Given the description of an element on the screen output the (x, y) to click on. 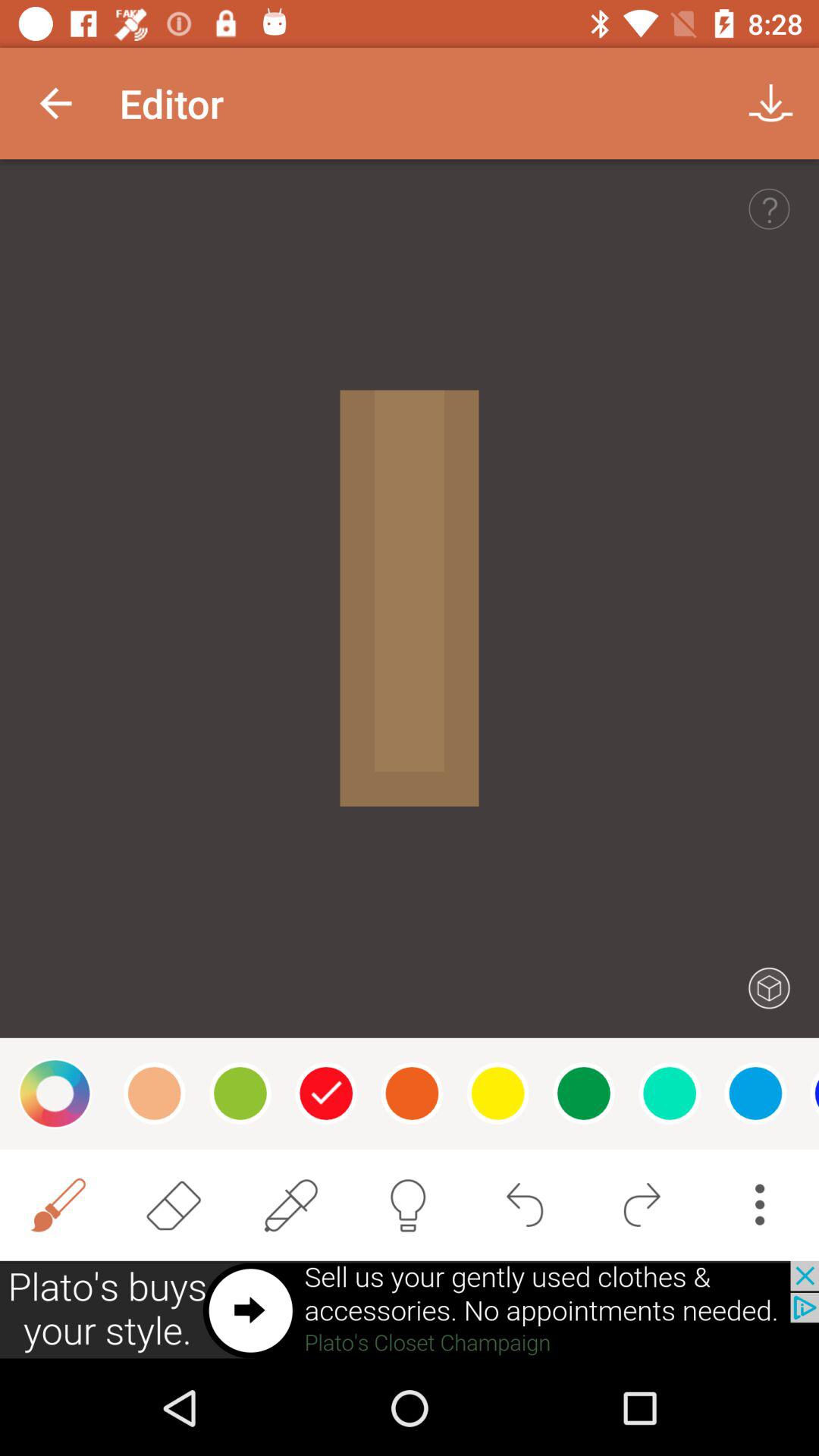
help option (769, 208)
